Given the description of an element on the screen output the (x, y) to click on. 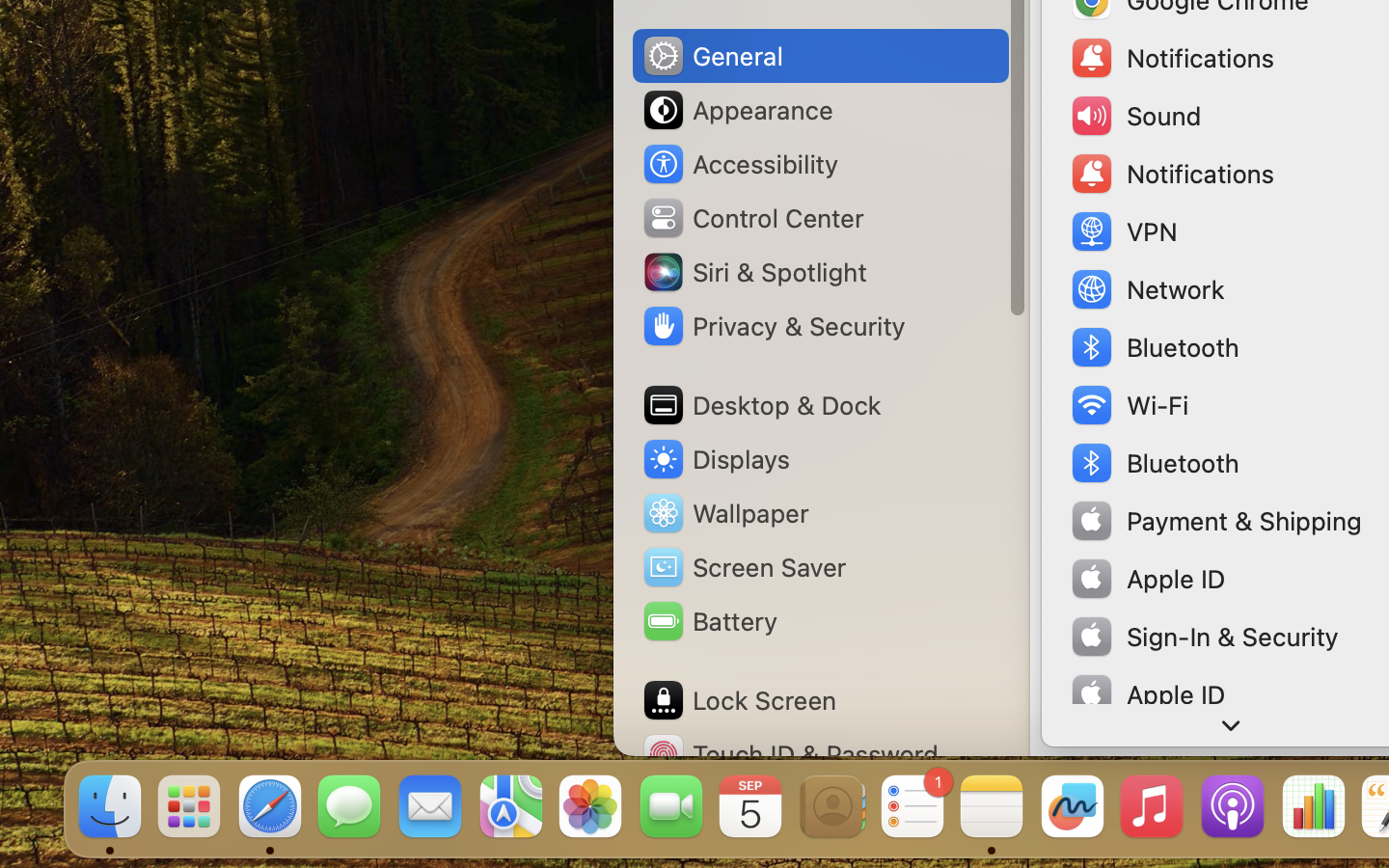
Displays Element type: AXStaticText (715, 458)
Desktop & Dock Element type: AXStaticText (760, 404)
Appearance Element type: AXStaticText (736, 109)
Battery Element type: AXStaticText (708, 620)
Wallpaper Element type: AXStaticText (724, 512)
